Given the description of an element on the screen output the (x, y) to click on. 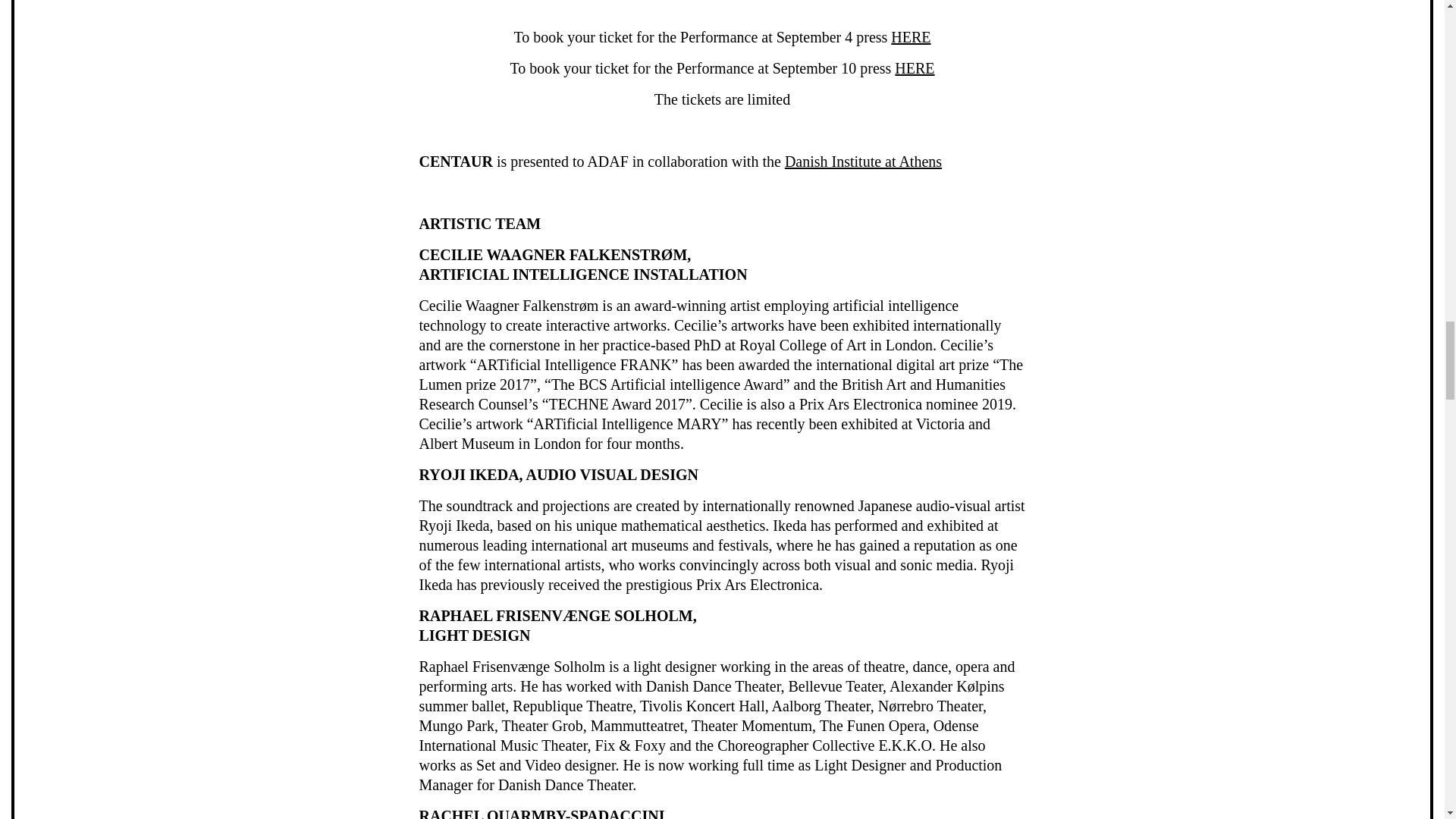
HERE (910, 36)
Danish Institute at Athens (863, 161)
HERE (914, 67)
